Given the description of an element on the screen output the (x, y) to click on. 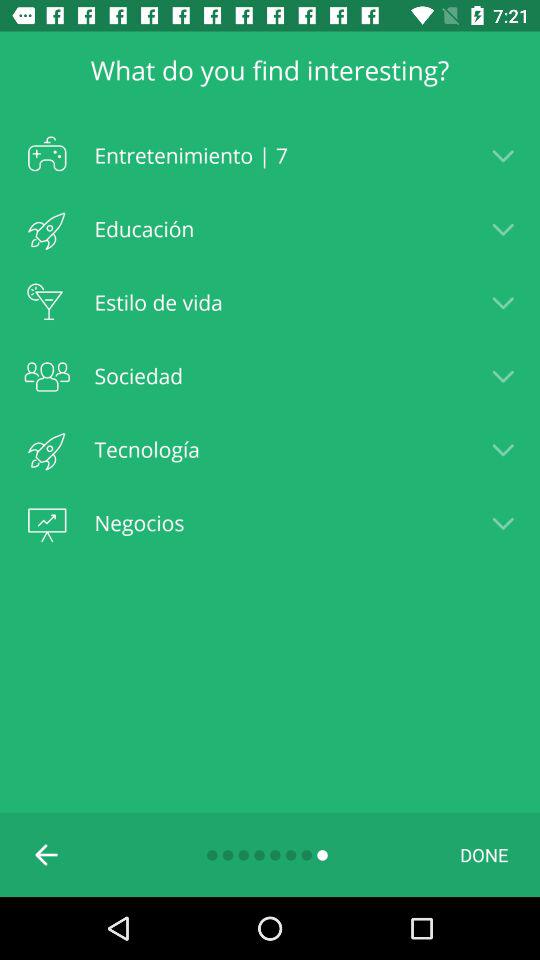
go back (47, 855)
